Given the description of an element on the screen output the (x, y) to click on. 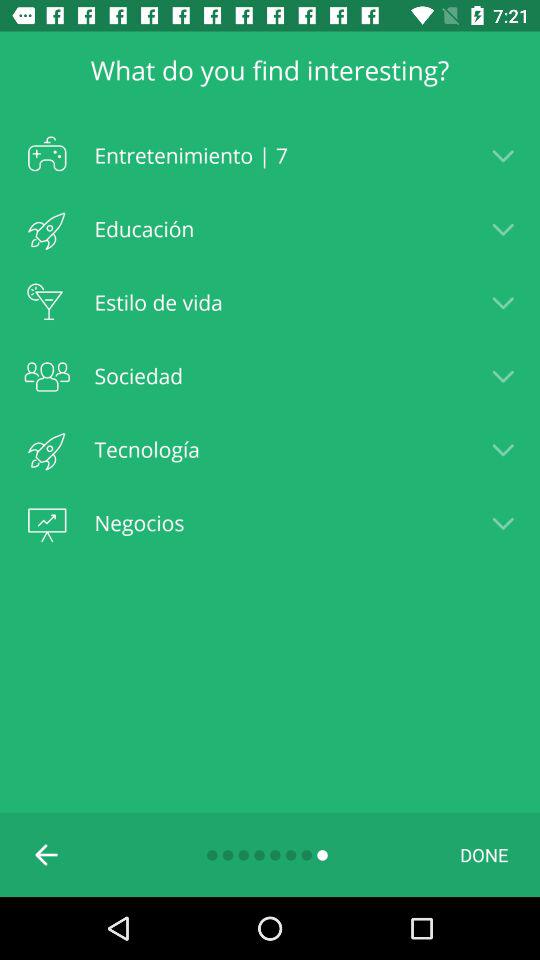
go back (47, 855)
